Given the description of an element on the screen output the (x, y) to click on. 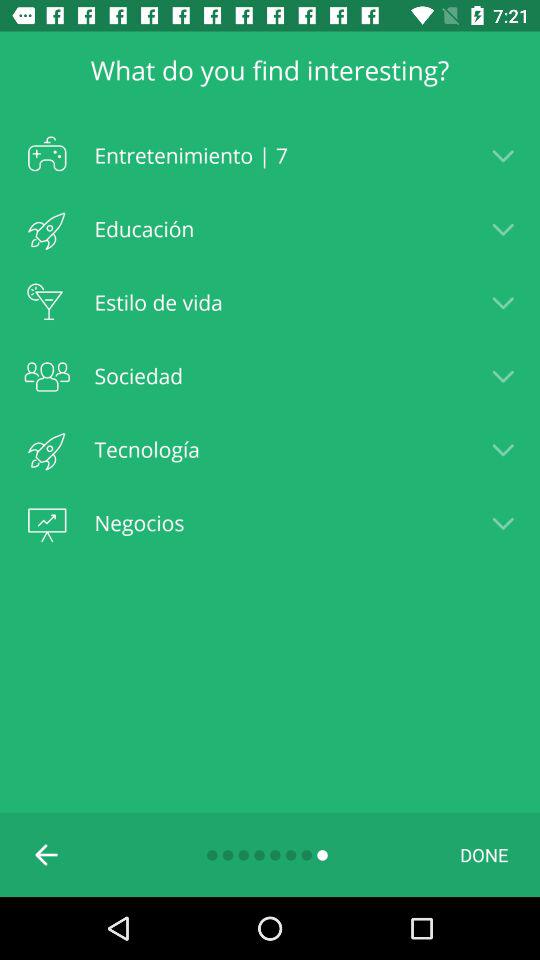
go back (47, 855)
